Given the description of an element on the screen output the (x, y) to click on. 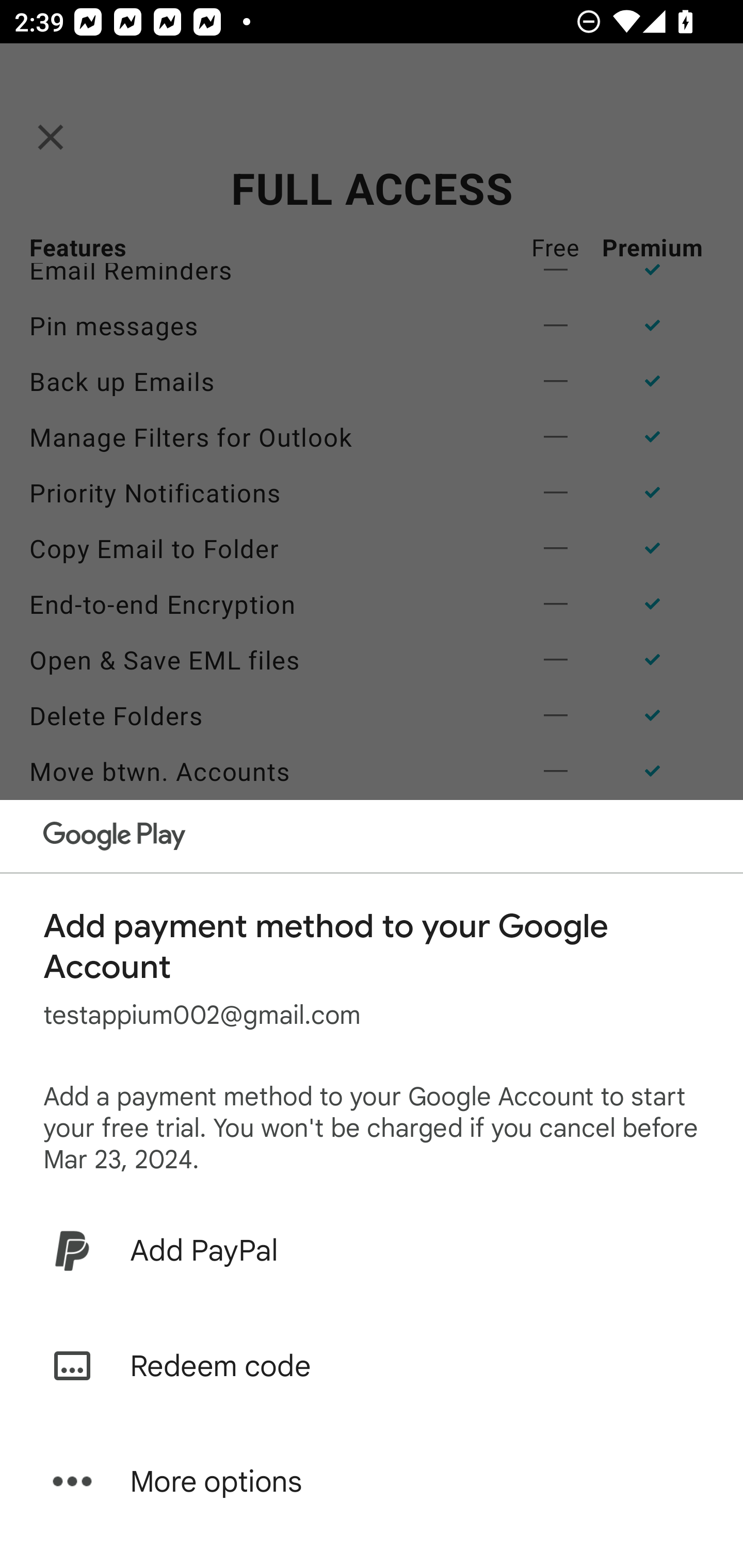
Add PayPal (371, 1250)
Redeem code (371, 1365)
More options (371, 1481)
